Given the description of an element on the screen output the (x, y) to click on. 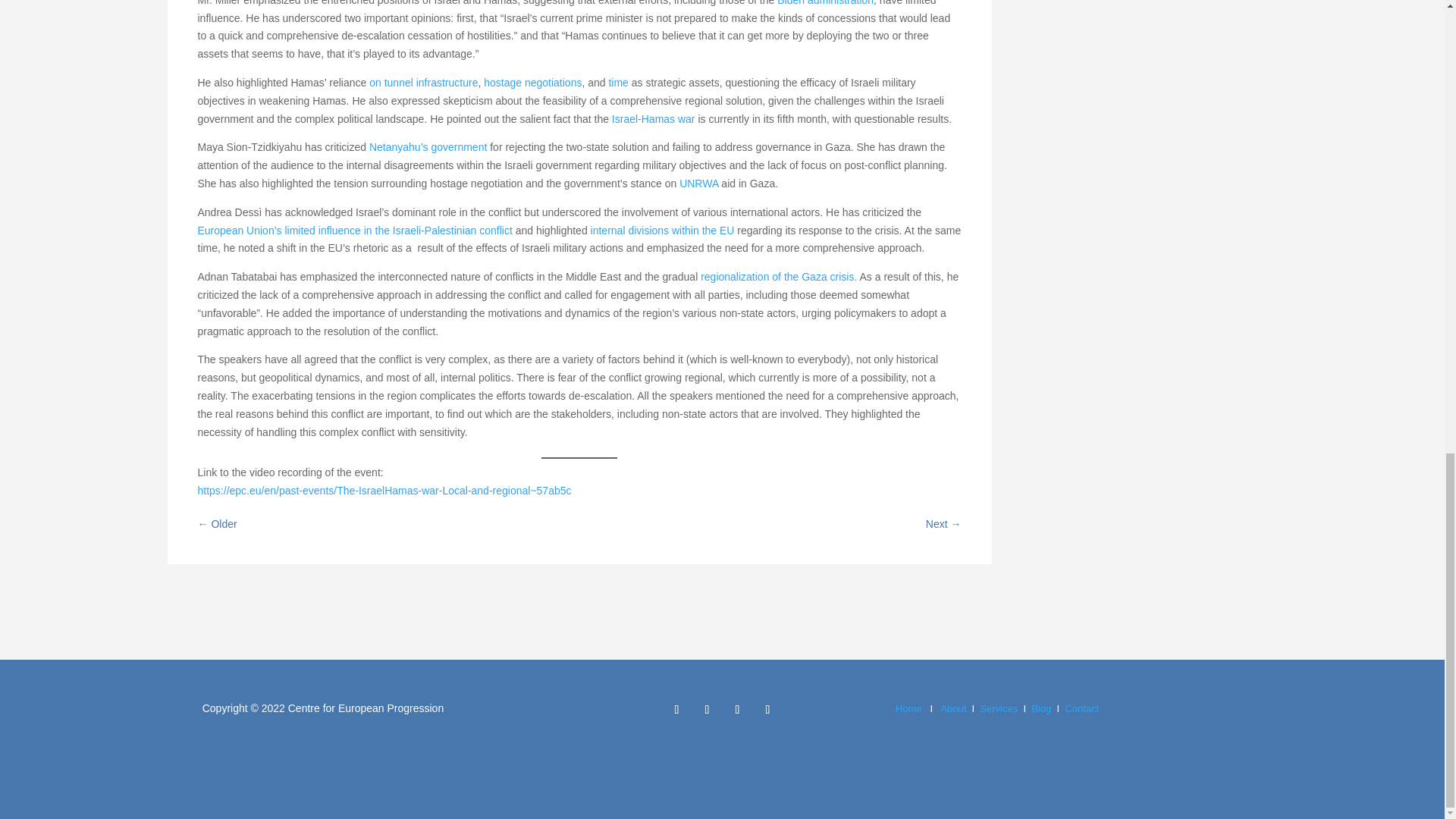
Follow on LinkedIn (766, 709)
time (617, 82)
UNRWA (698, 183)
Contact (1081, 708)
internal divisions within the EU (663, 230)
Follow on Instagram (737, 709)
hostage negotiations (531, 82)
regionalization of the Gaza crisis. (778, 276)
Services (998, 708)
Follow on Facebook (675, 709)
